Given the description of an element on the screen output the (x, y) to click on. 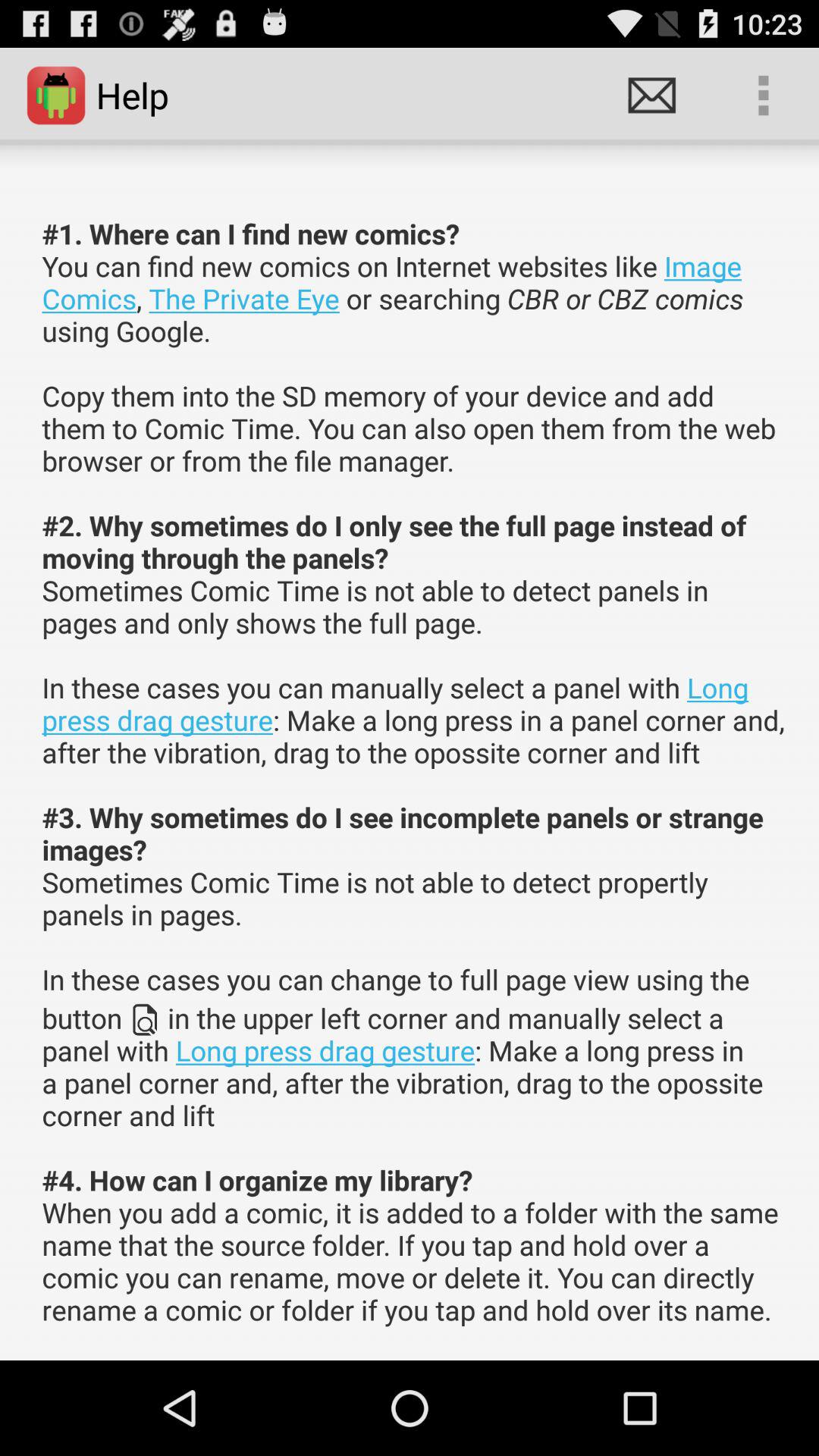
choose the app above 1 where can icon (763, 95)
